Given the description of an element on the screen output the (x, y) to click on. 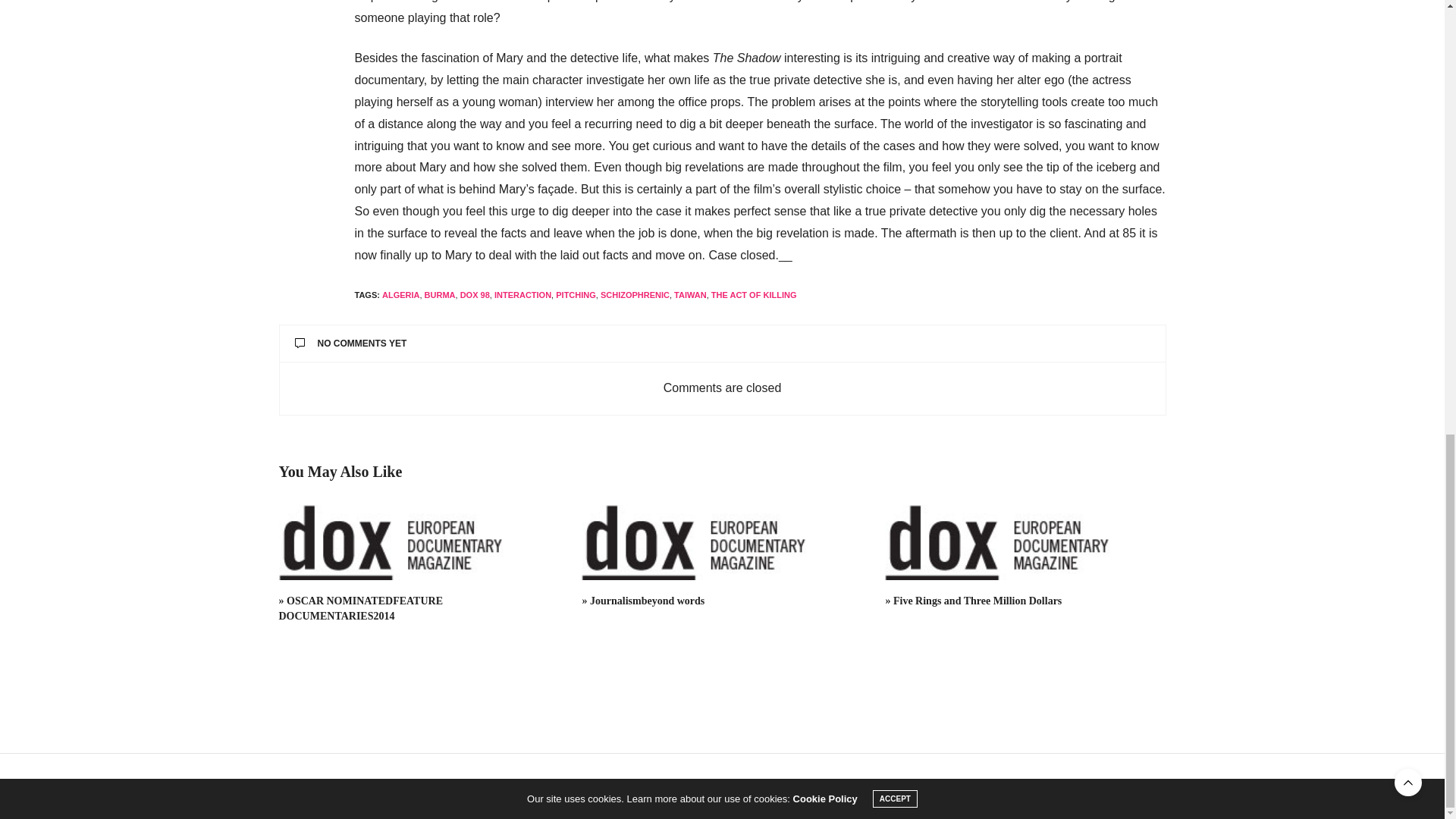
SCHIZOPHRENIC (634, 294)
PITCHING (575, 294)
NO COMMENTS YET (721, 343)
INTERACTION (523, 294)
ALGERIA (400, 294)
TAIWAN (690, 294)
THE ACT OF KILLING (753, 294)
BURMA (440, 294)
DOX 98 (474, 294)
